Given the description of an element on the screen output the (x, y) to click on. 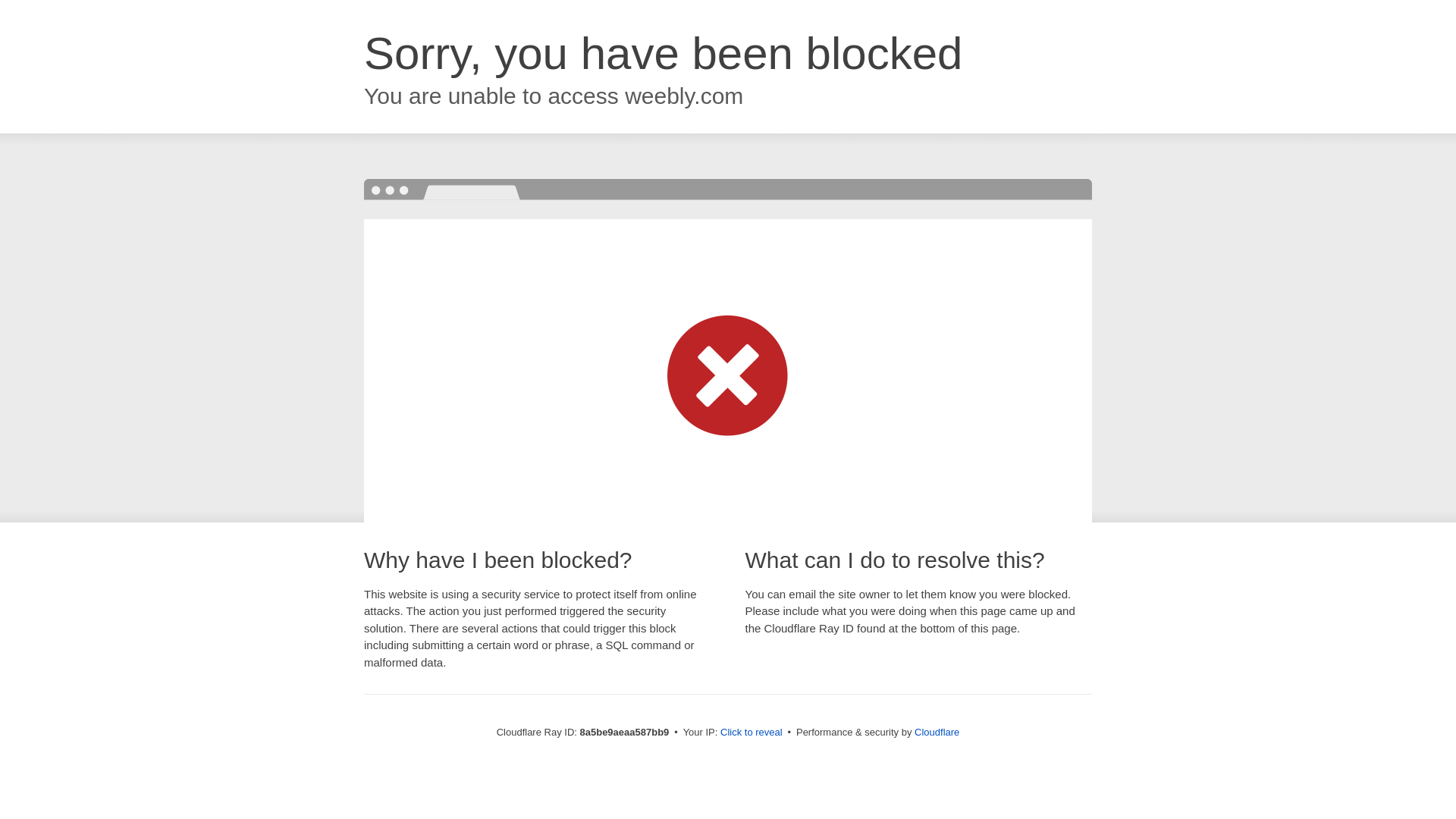
Cloudflare (936, 731)
Click to reveal (751, 732)
